Given the description of an element on the screen output the (x, y) to click on. 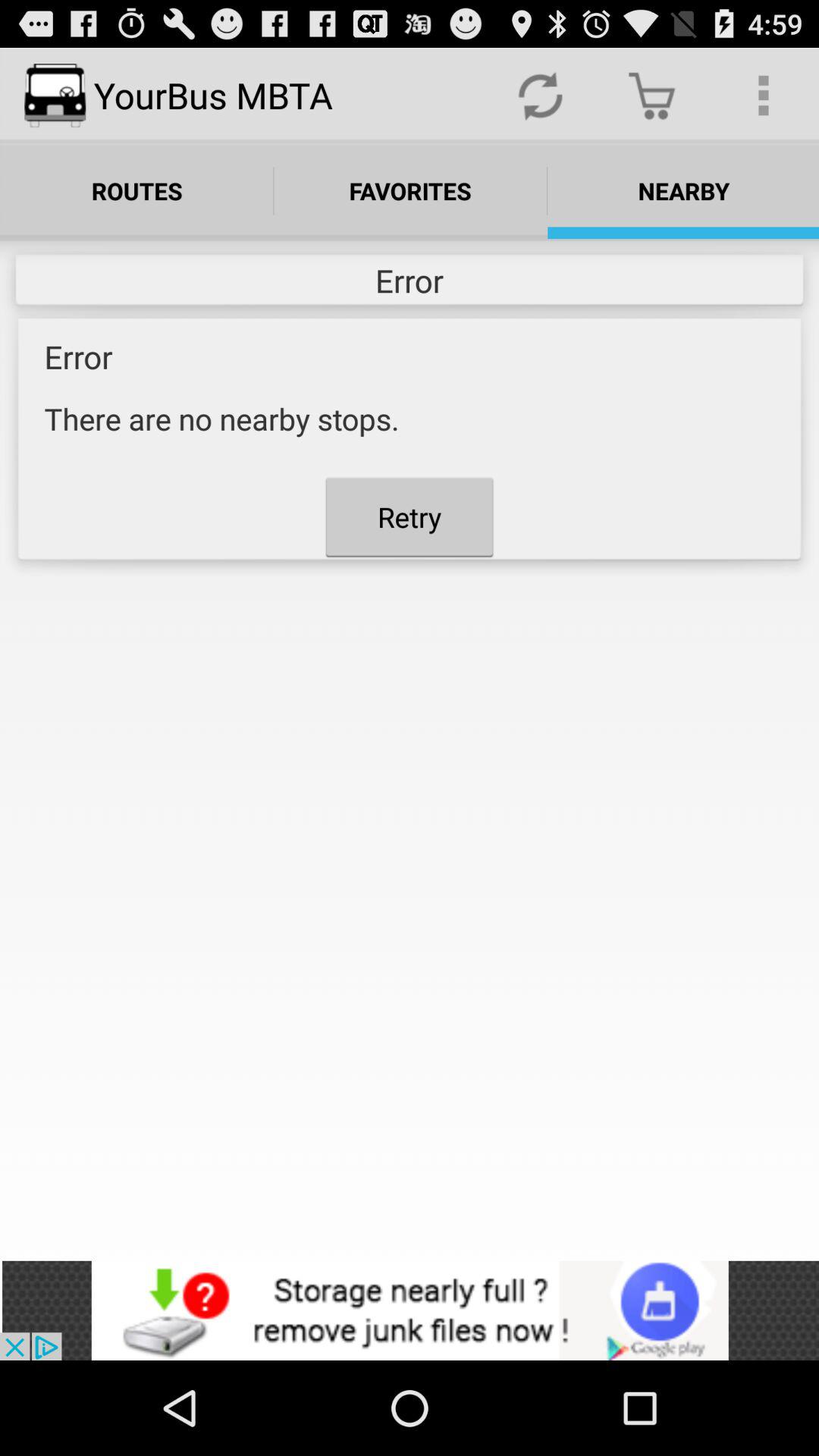
advertisement (409, 1310)
